Given the description of an element on the screen output the (x, y) to click on. 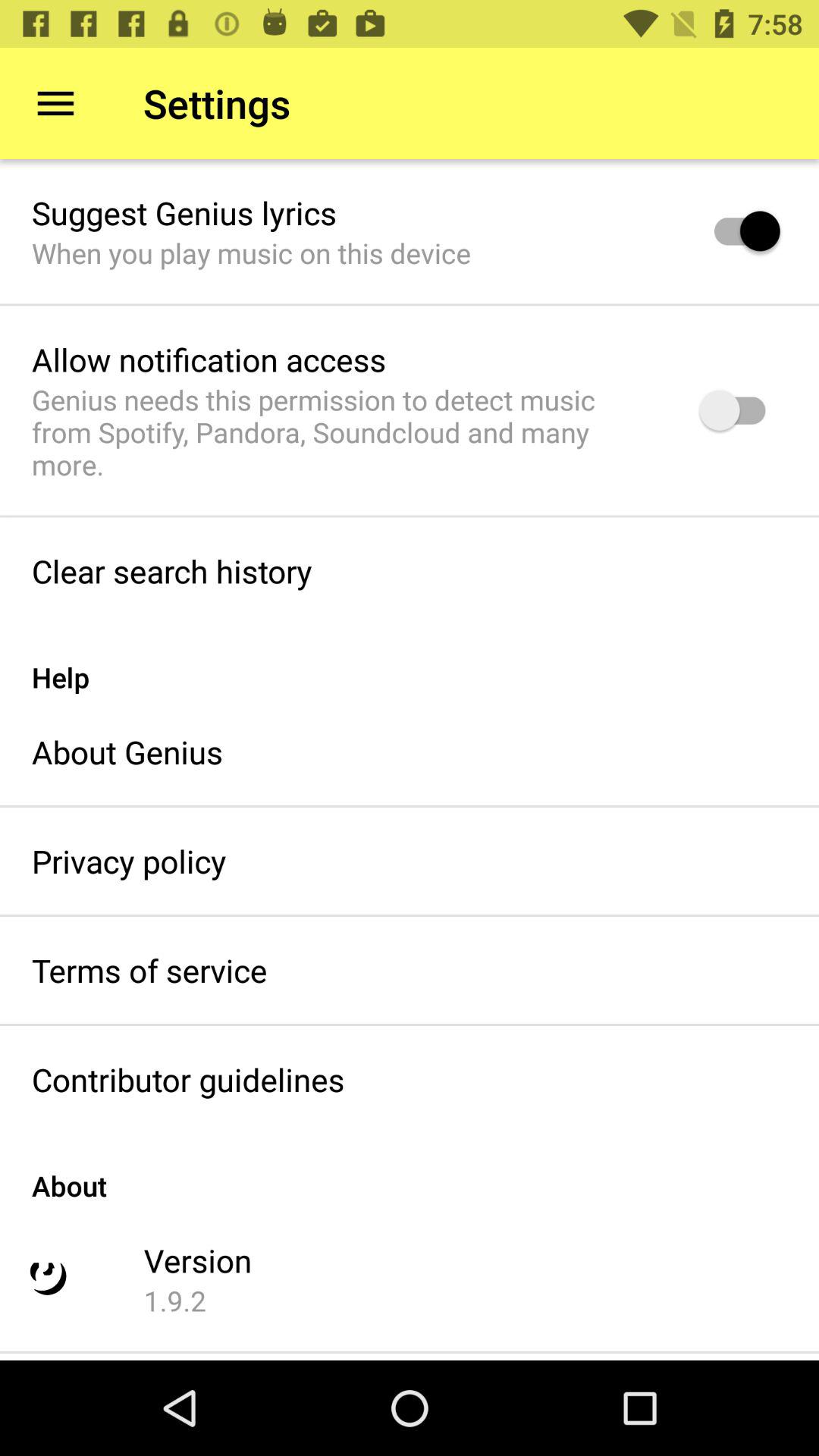
press icon above suggest genius lyrics icon (55, 103)
